Given the description of an element on the screen output the (x, y) to click on. 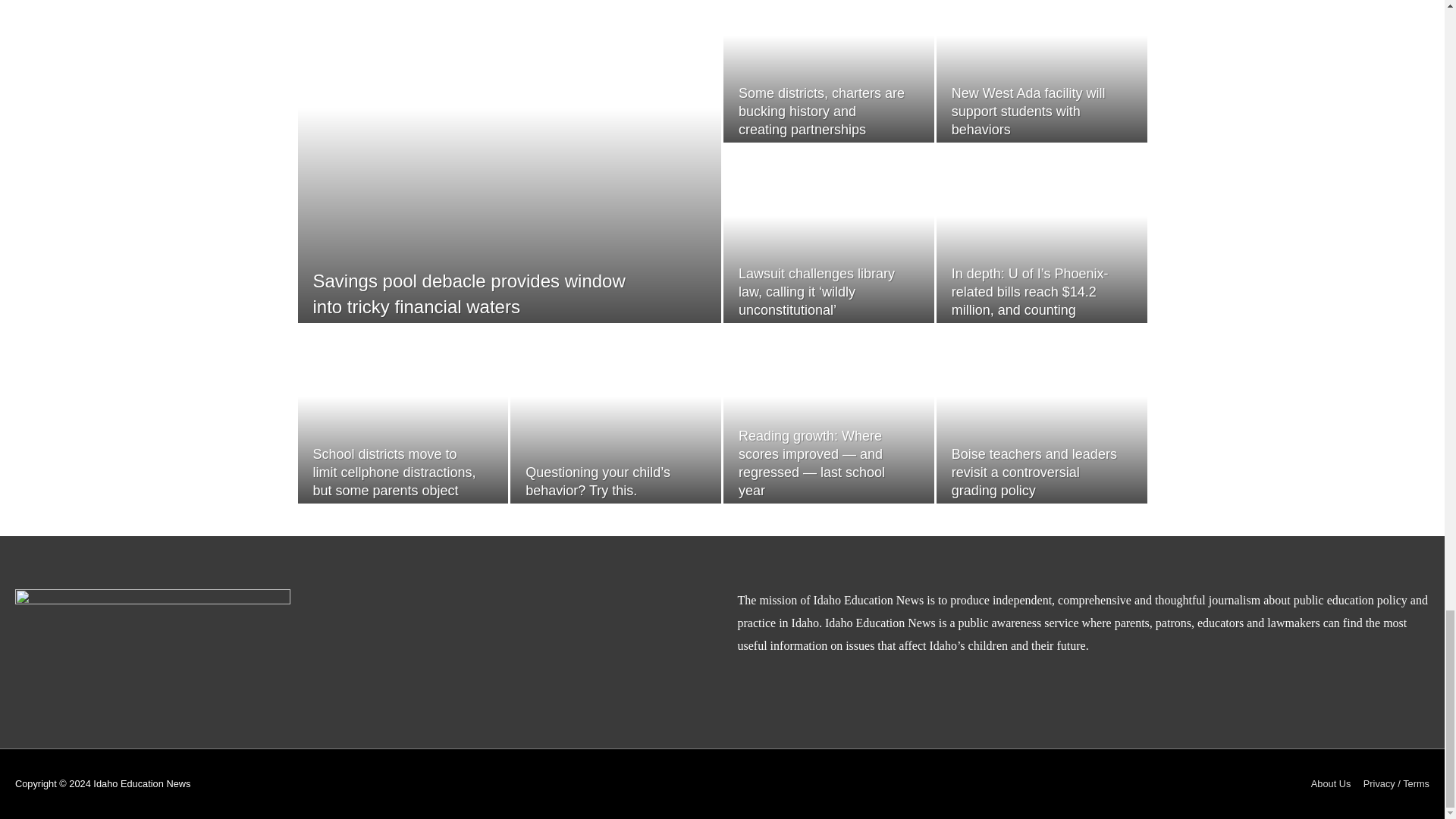
New West Ada facility will support students with behaviors (1028, 111)
